Given the description of an element on the screen output the (x, y) to click on. 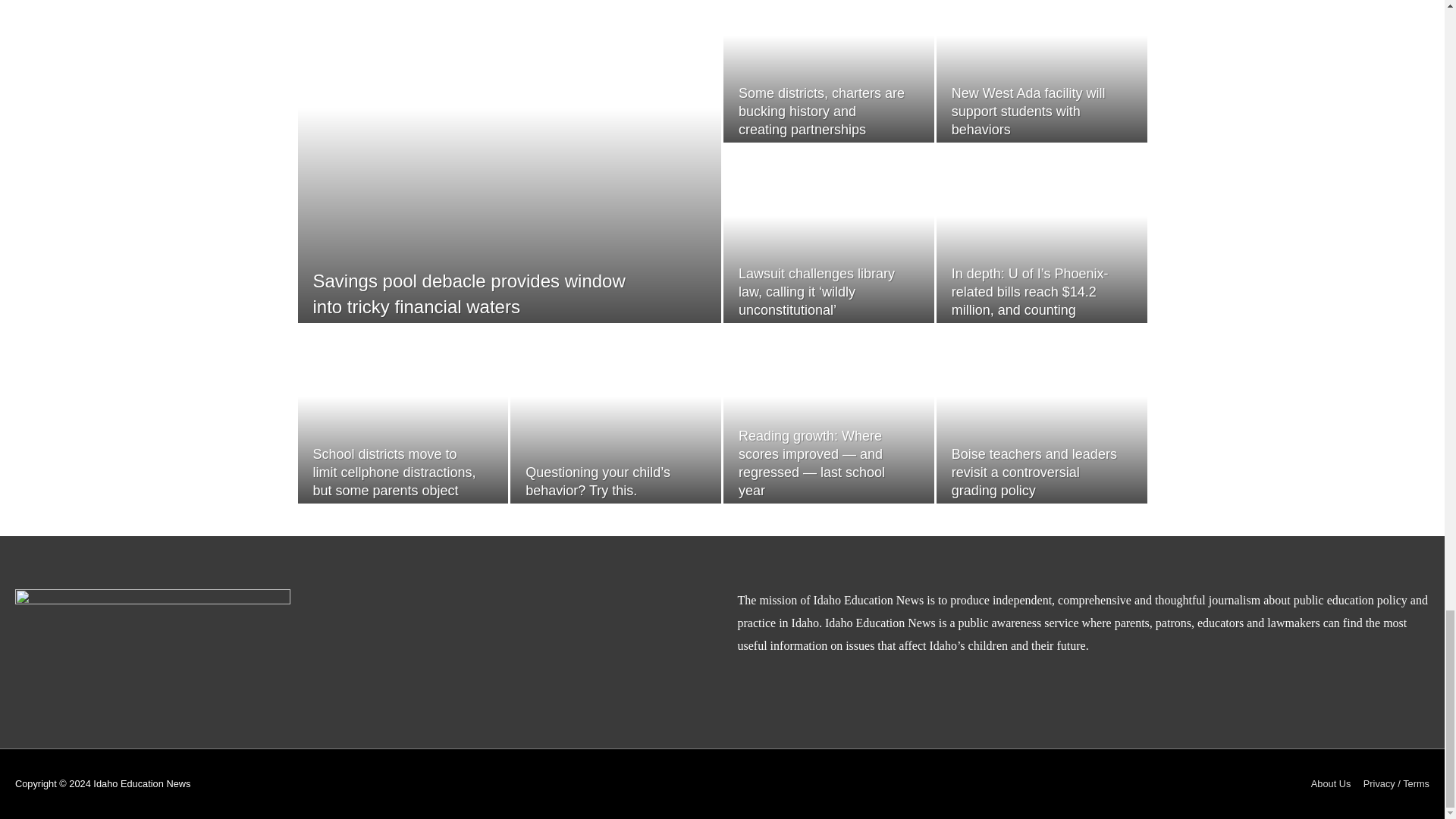
New West Ada facility will support students with behaviors (1028, 111)
